Given the description of an element on the screen output the (x, y) to click on. 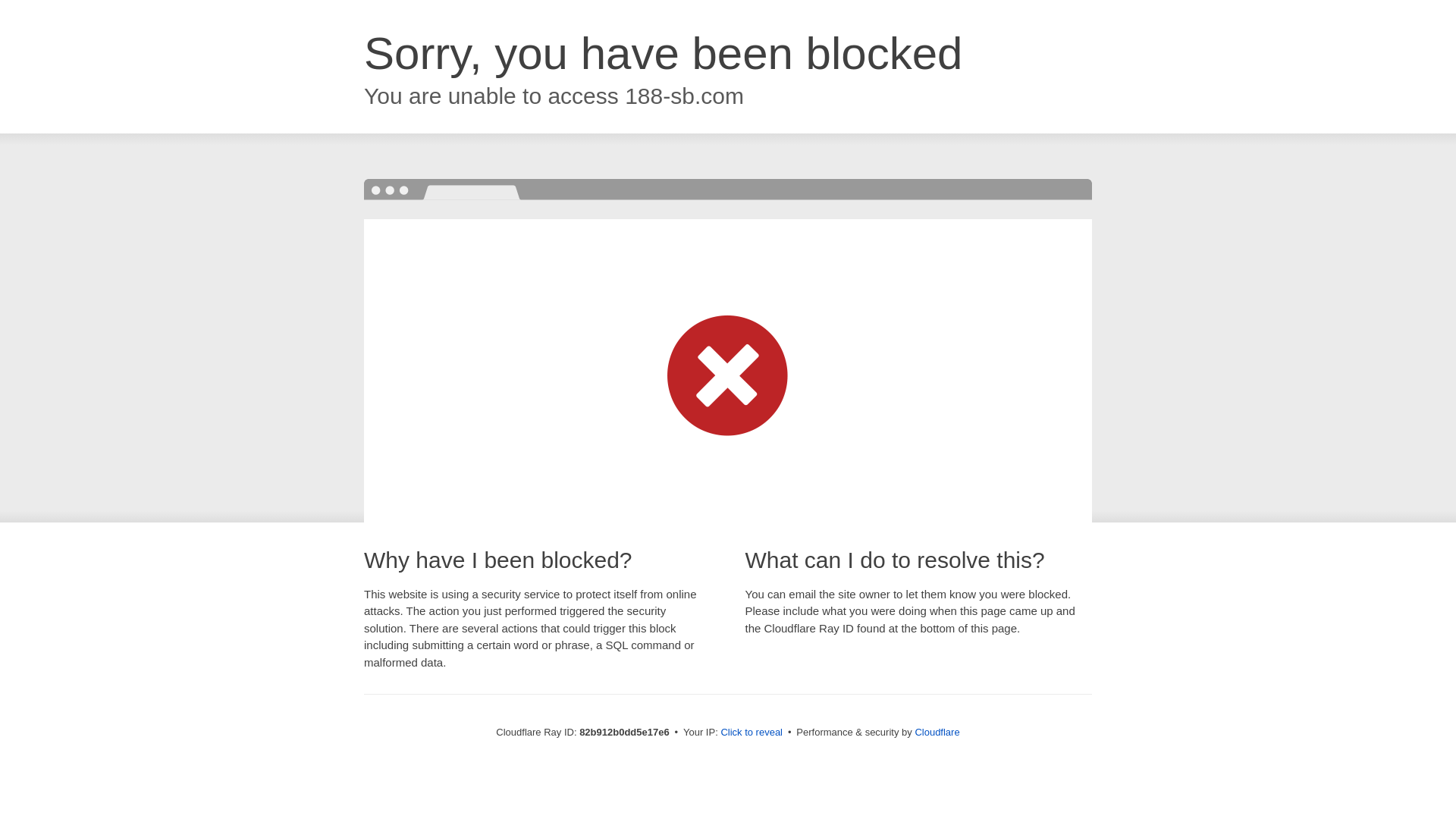
Click to reveal Element type: text (751, 732)
Cloudflare Element type: text (936, 731)
